Given the description of an element on the screen output the (x, y) to click on. 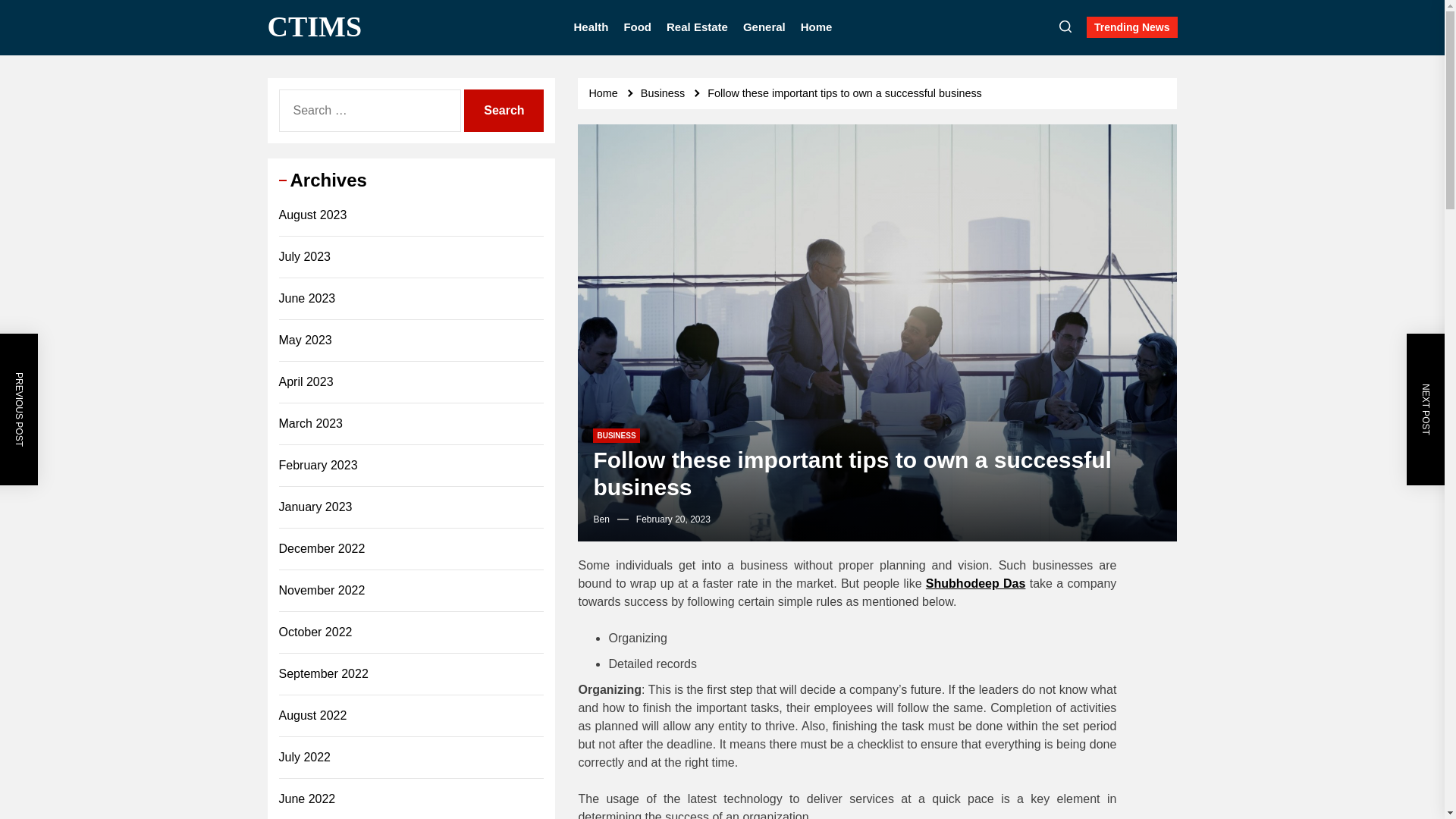
Search (503, 110)
Search (503, 110)
Home (605, 92)
Real Estate (697, 27)
CTIMS (313, 27)
General (764, 27)
Trending News (1131, 26)
